Given the description of an element on the screen output the (x, y) to click on. 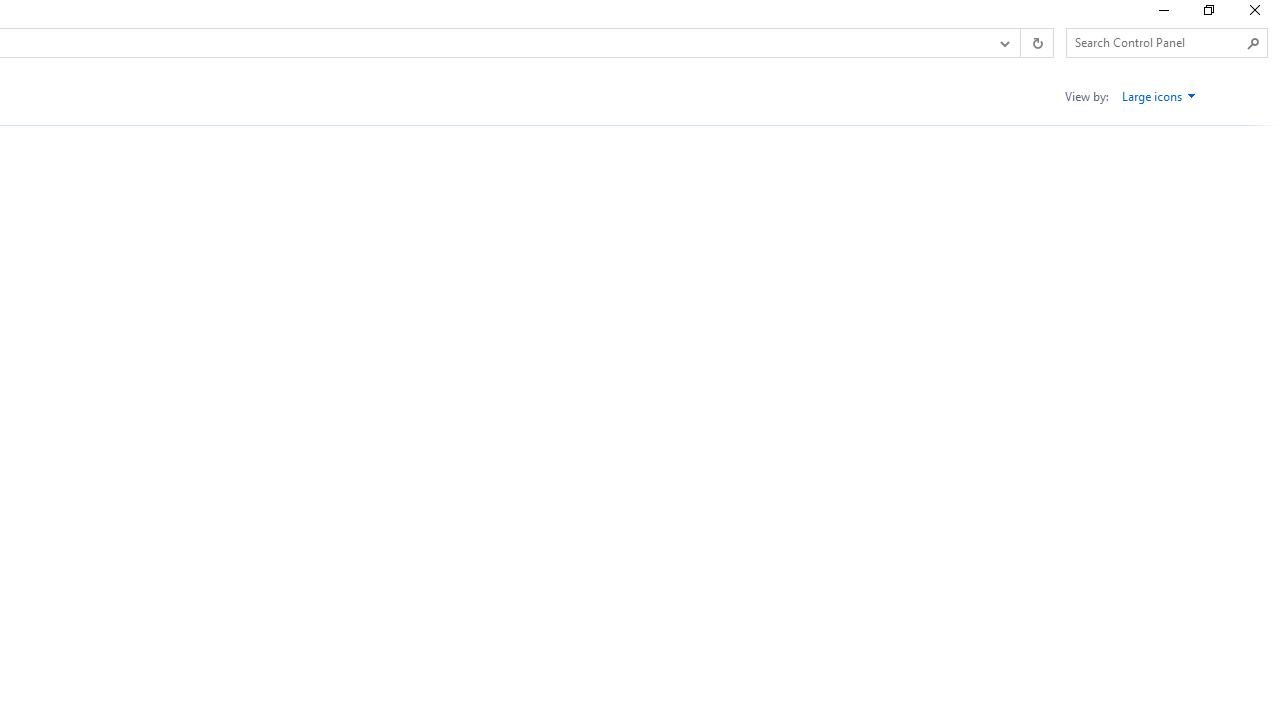
Address band toolbar (1019, 43)
Search (1253, 43)
Search Box (1156, 42)
Previous Locations (1003, 43)
Minimize (1162, 14)
Refresh "All Control Panel Items" (F5) (1036, 43)
Restore (1208, 14)
Large icons (1159, 96)
